Given the description of an element on the screen output the (x, y) to click on. 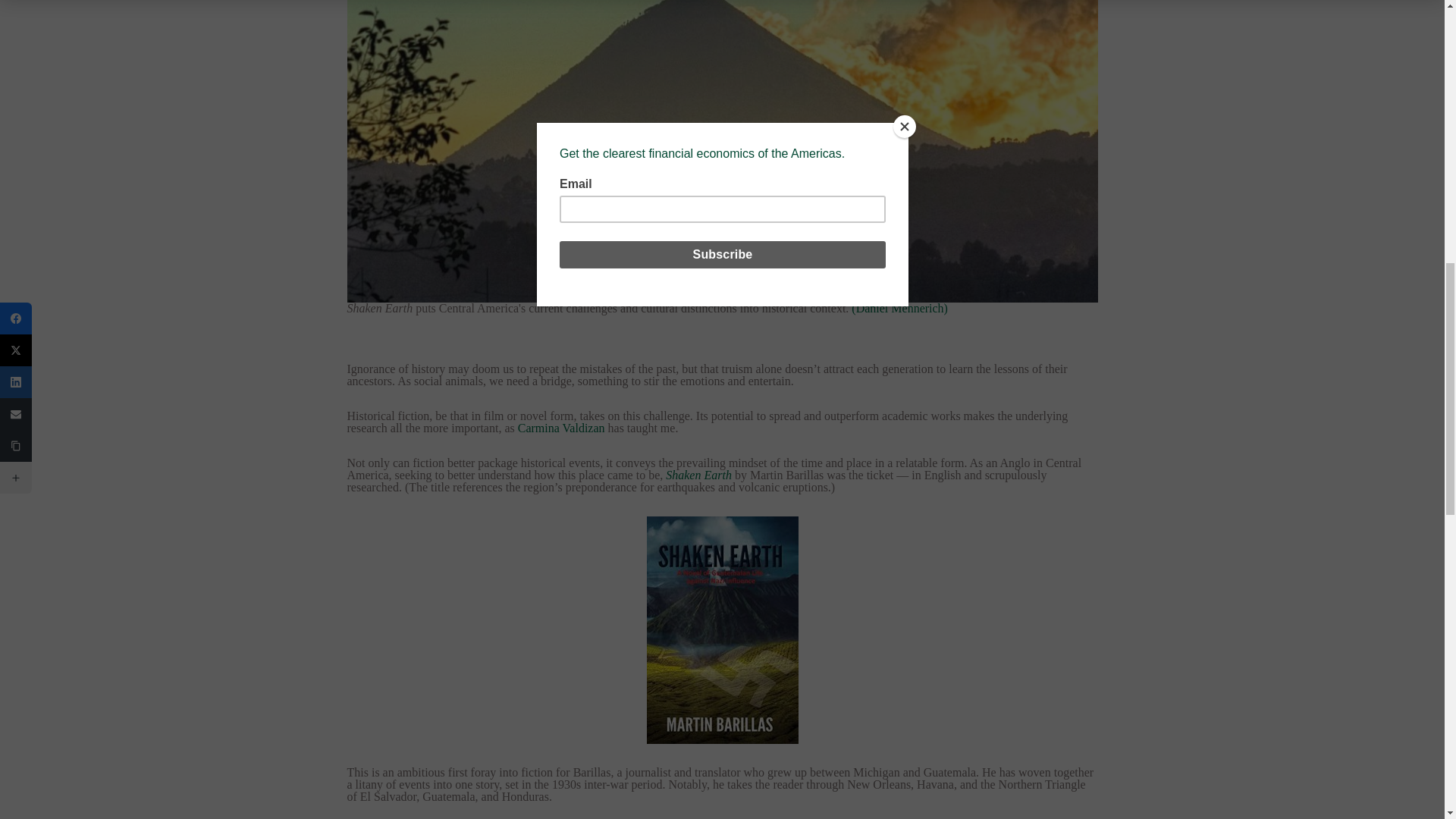
Carmina Valdizan (561, 427)
Shaken Earth (698, 474)
